Given the description of an element on the screen output the (x, y) to click on. 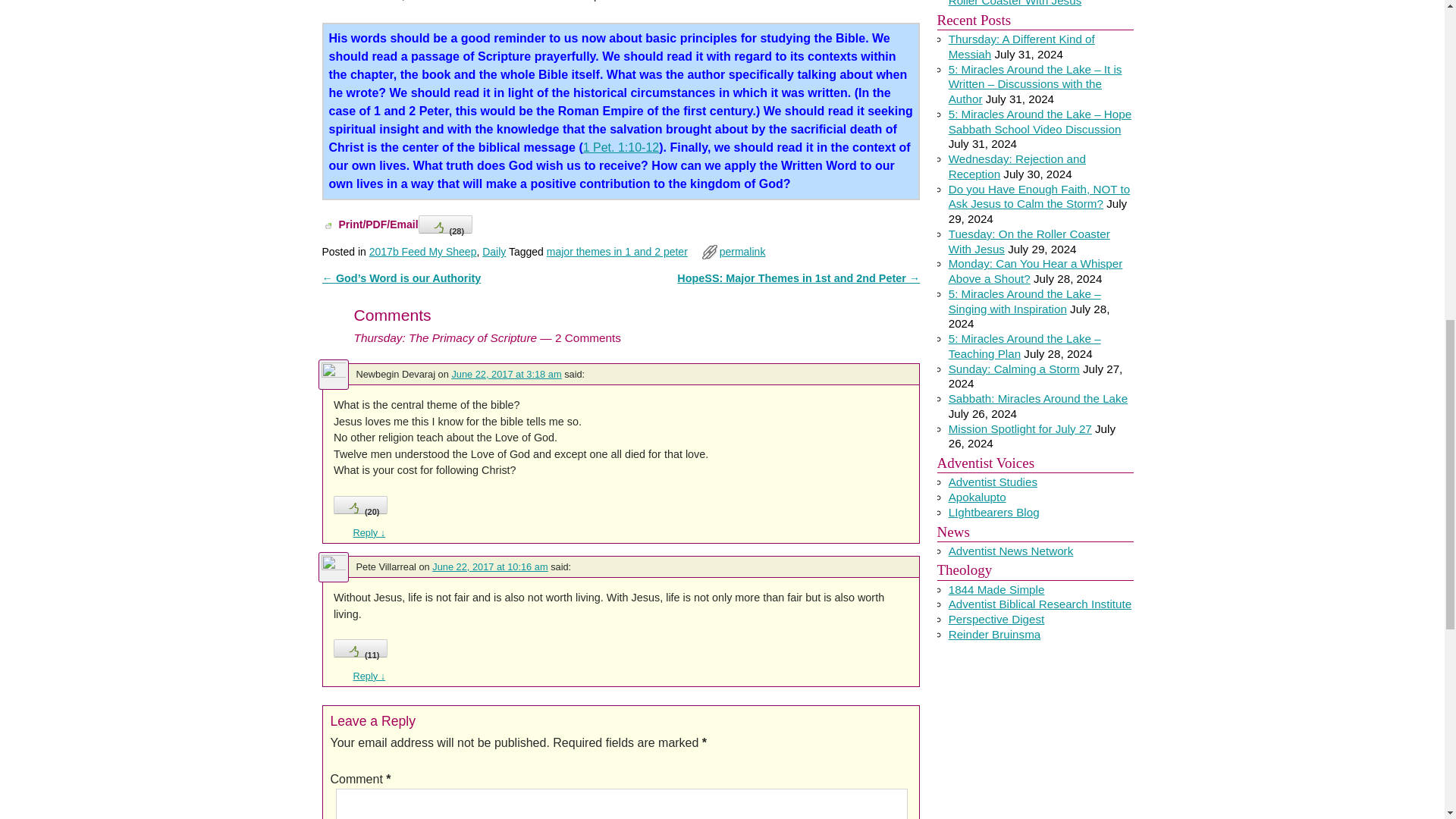
 David Hamstra blog (977, 496)
by Arthur Patrick of Avondale (992, 481)
Permalink to Thursday: The Primacy of Scripture (742, 251)
Publication of Adventist Theological Society (997, 618)
Official Adventist News Network (1011, 550)
